Given the description of an element on the screen output the (x, y) to click on. 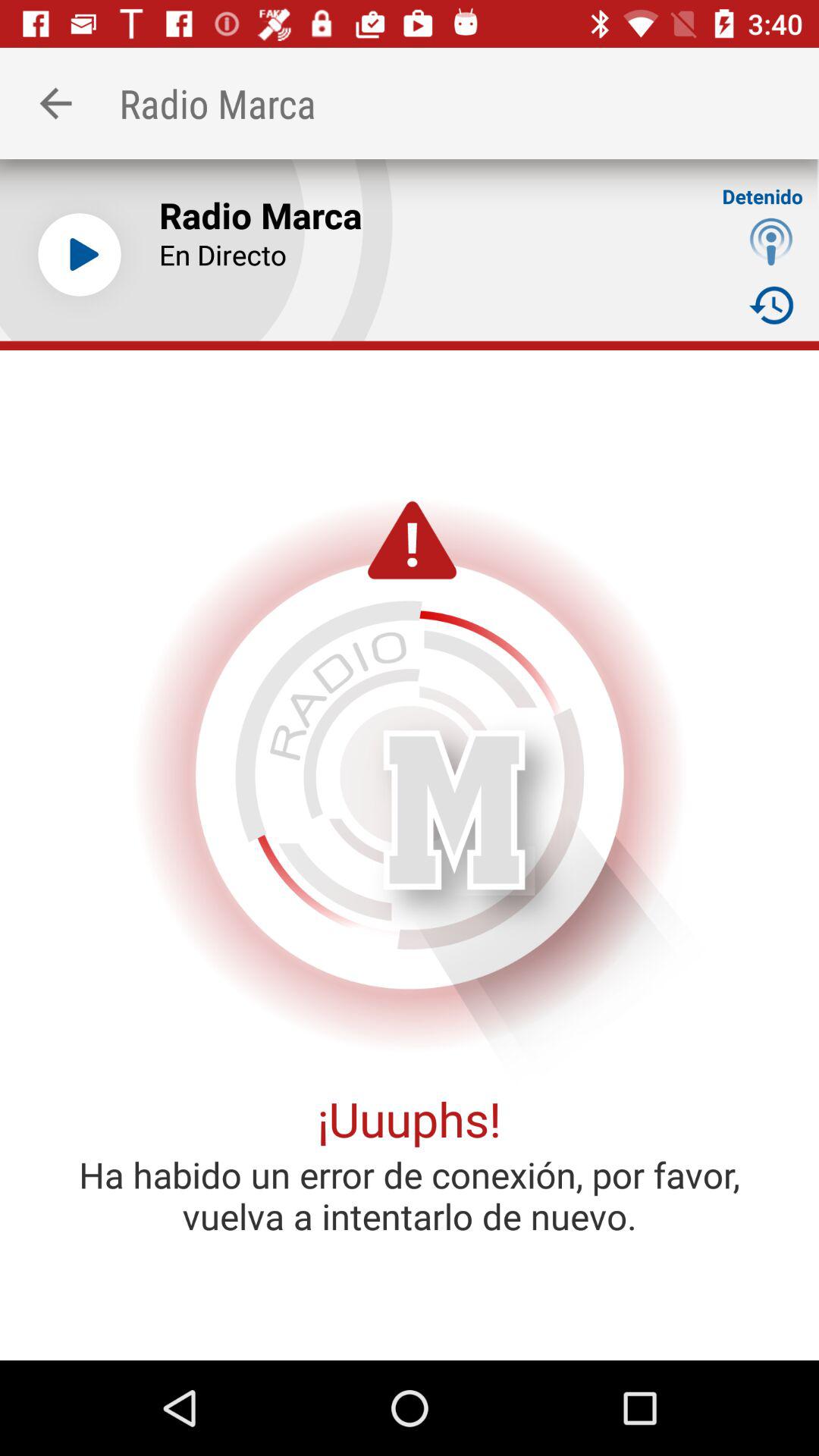
play (79, 254)
